Given the description of an element on the screen output the (x, y) to click on. 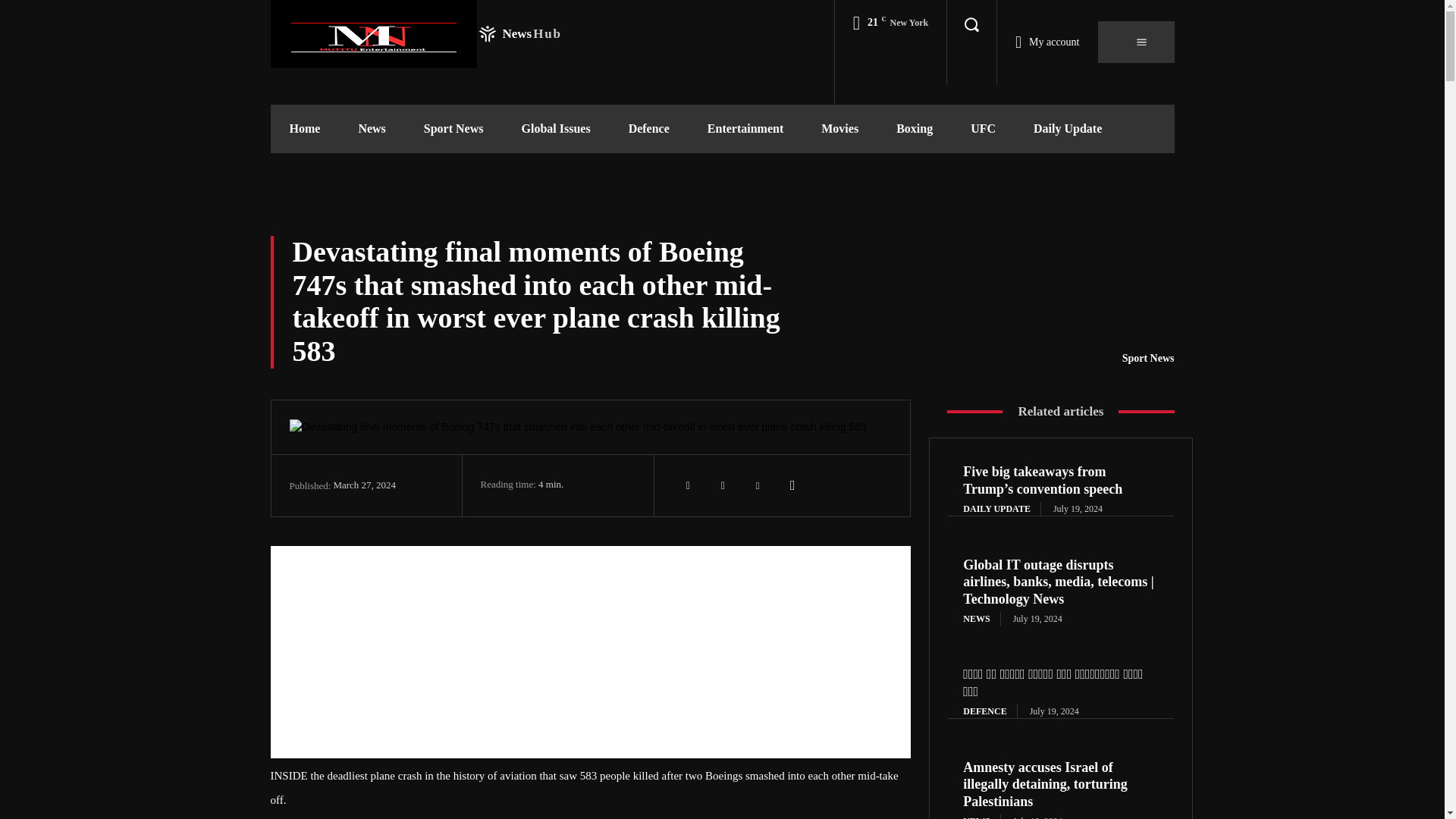
Sport News (453, 128)
Global Issues (555, 128)
Facebook (687, 485)
Home (304, 128)
News (371, 128)
